Given the description of an element on the screen output the (x, y) to click on. 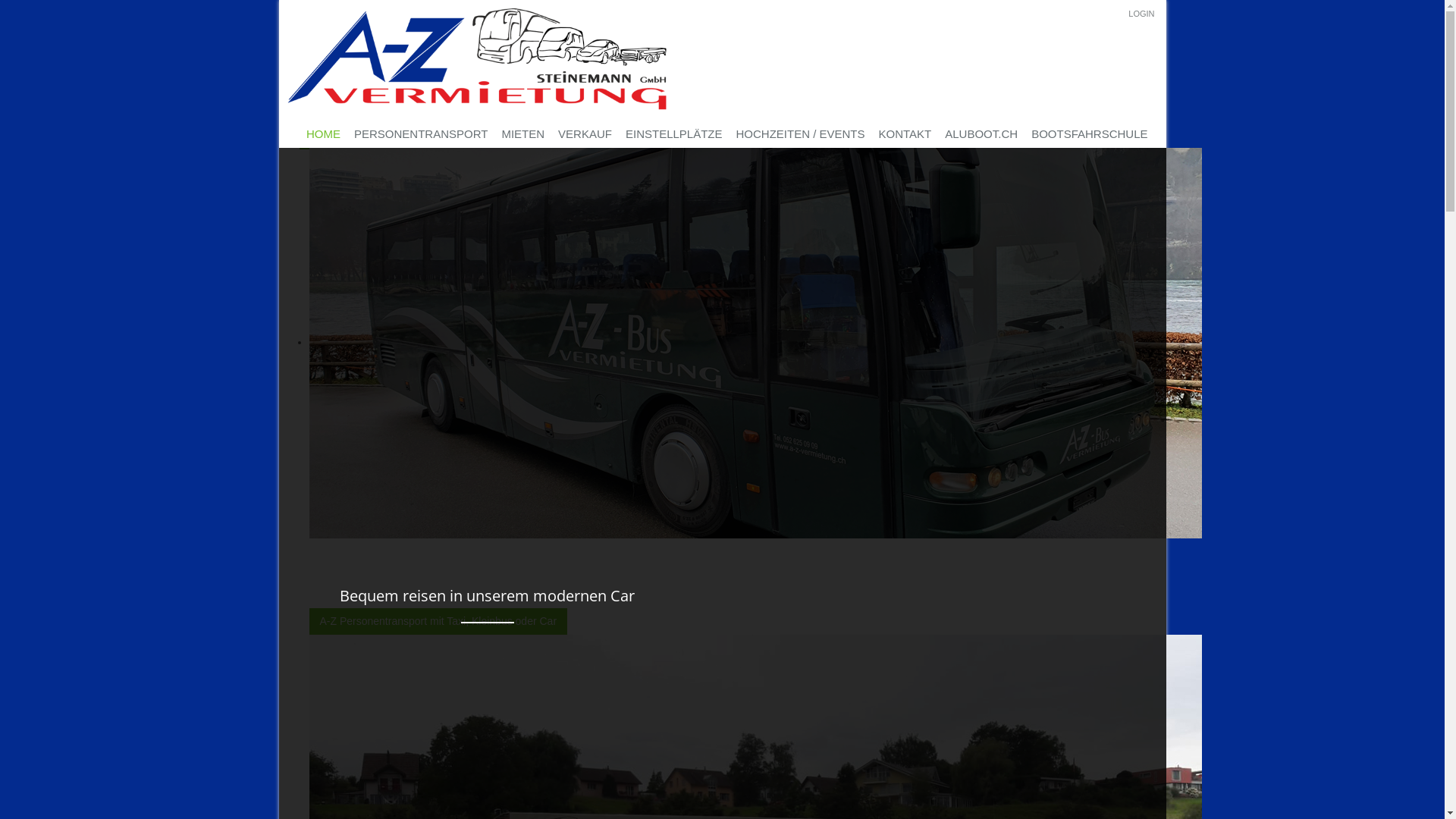
A-Z Personentransport mit Taxi, Kleinbus oder Car Element type: text (438, 620)
MIETEN Element type: text (522, 134)
LOGIN Element type: text (1141, 13)
PERSONENTRANSPORT Element type: text (420, 134)
HOME Element type: text (323, 134)
BOOTSFAHRSCHULE Element type: text (1089, 134)
HOCHZEITEN / EVENTS Element type: text (800, 134)
ALUBOOT.CH Element type: text (981, 134)
KONTAKT Element type: text (905, 134)
VERKAUF Element type: text (584, 134)
